Given the description of an element on the screen output the (x, y) to click on. 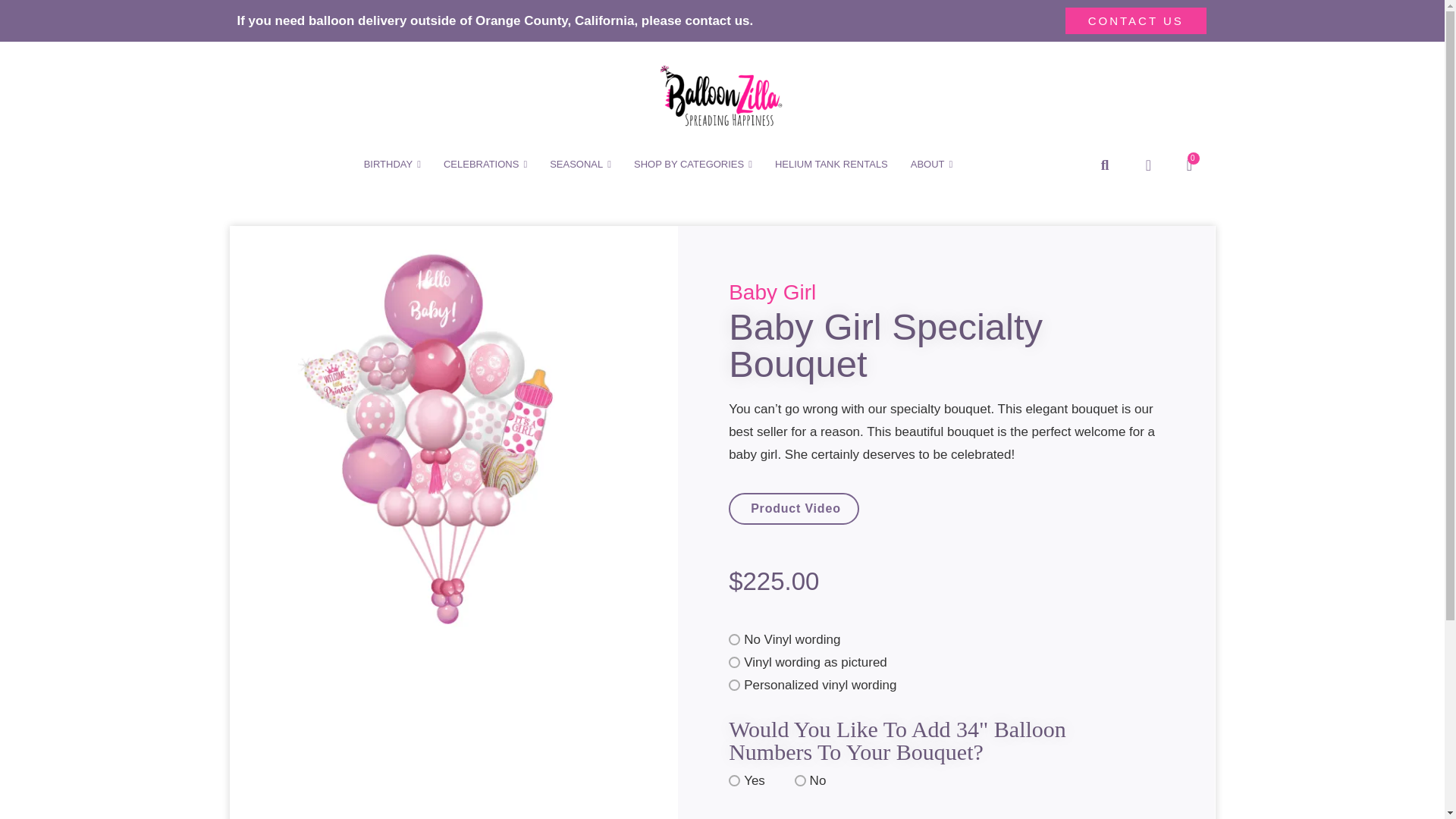
CONTACT US (1136, 20)
BIRTHDAY (392, 165)
